Given the description of an element on the screen output the (x, y) to click on. 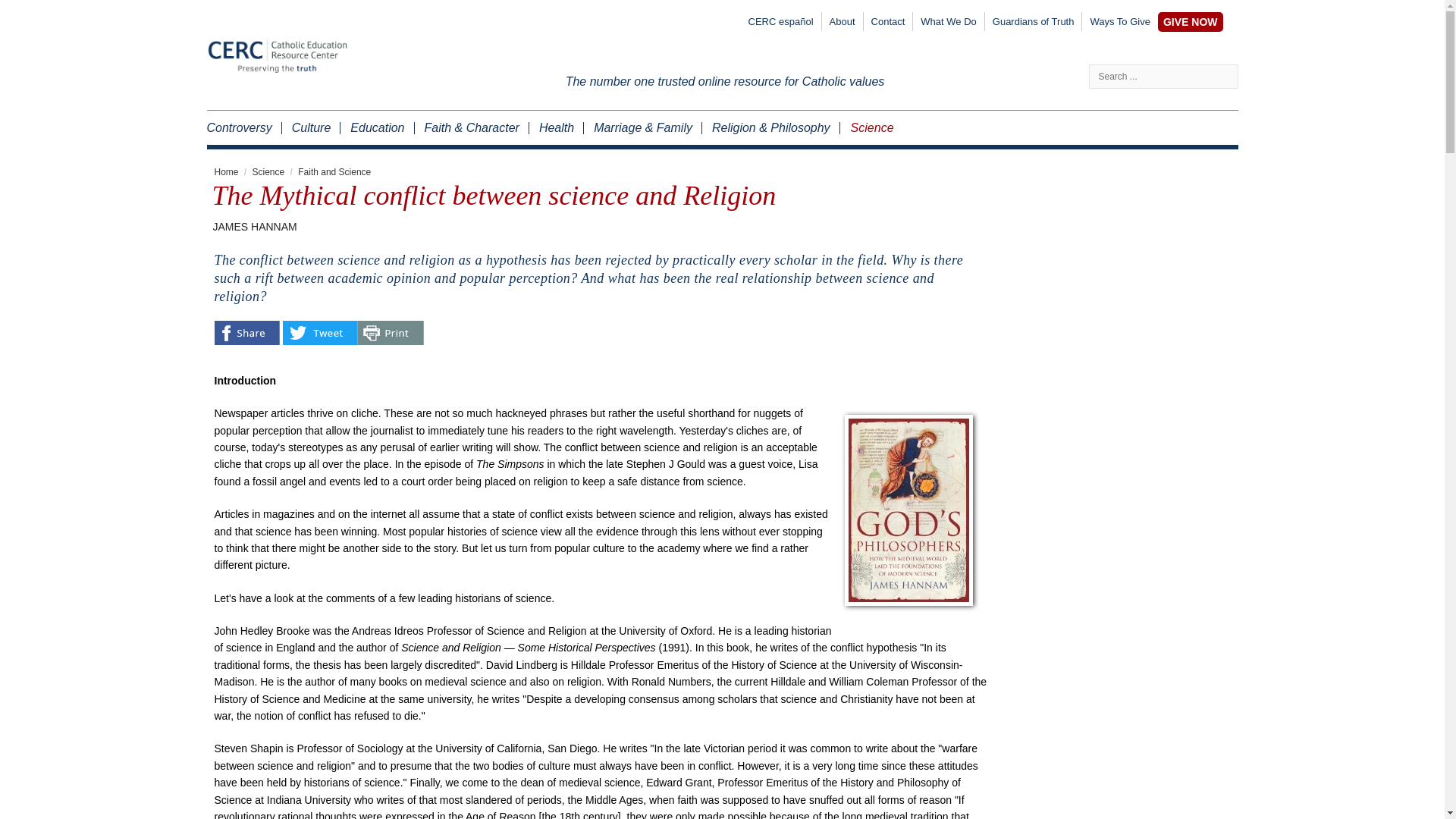
Home (226, 172)
Education (376, 128)
Faith and Science (334, 172)
What We Do (948, 24)
GIVE NOW (1190, 21)
About (842, 24)
Culture (310, 128)
Controversy (243, 128)
Science (268, 172)
Guardians of Truth (1033, 24)
